Given the description of an element on the screen output the (x, y) to click on. 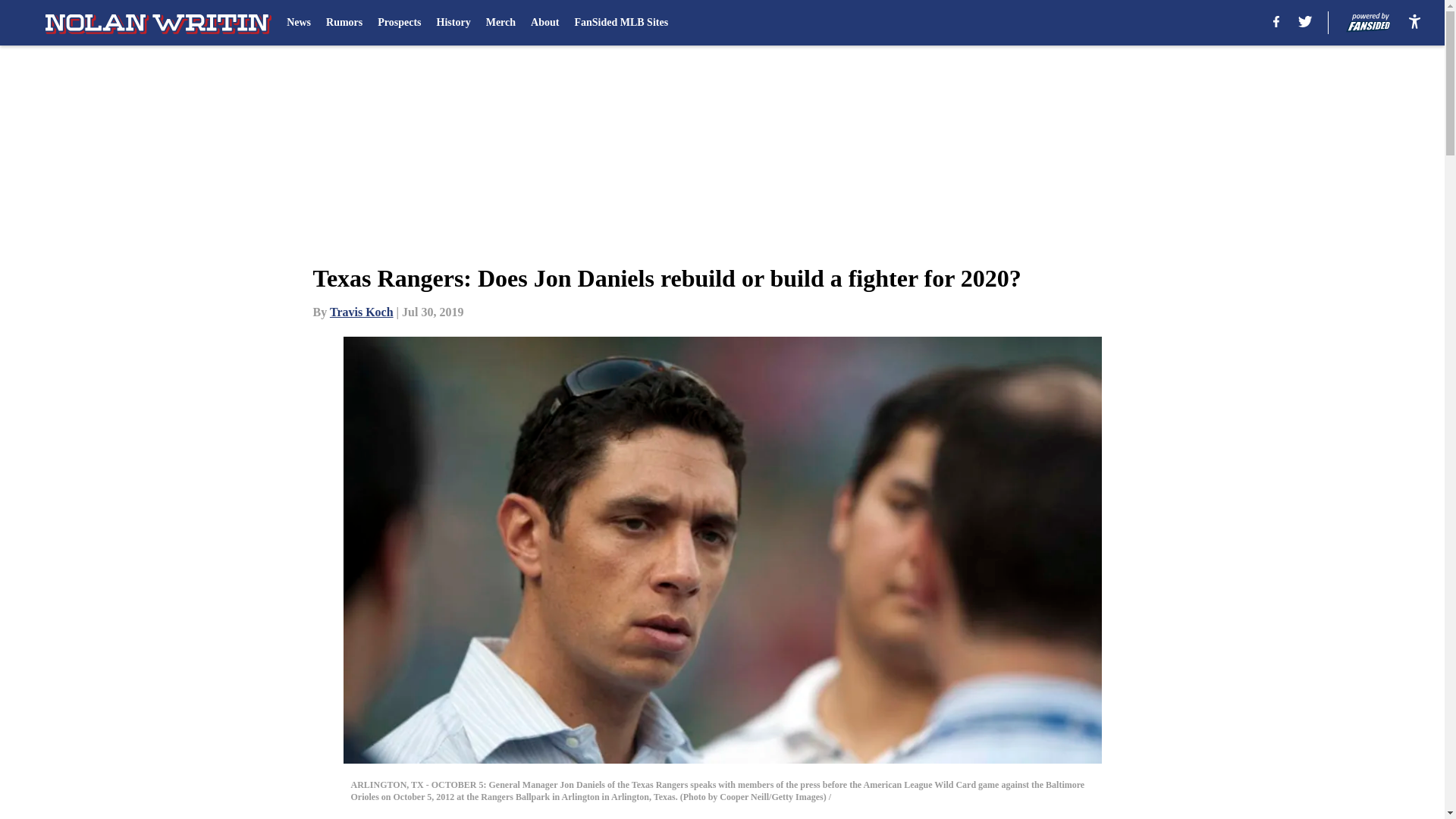
Rumors (344, 22)
About (545, 22)
Travis Koch (361, 311)
News (298, 22)
Prospects (398, 22)
FanSided MLB Sites (620, 22)
Merch (500, 22)
History (453, 22)
